Given the description of an element on the screen output the (x, y) to click on. 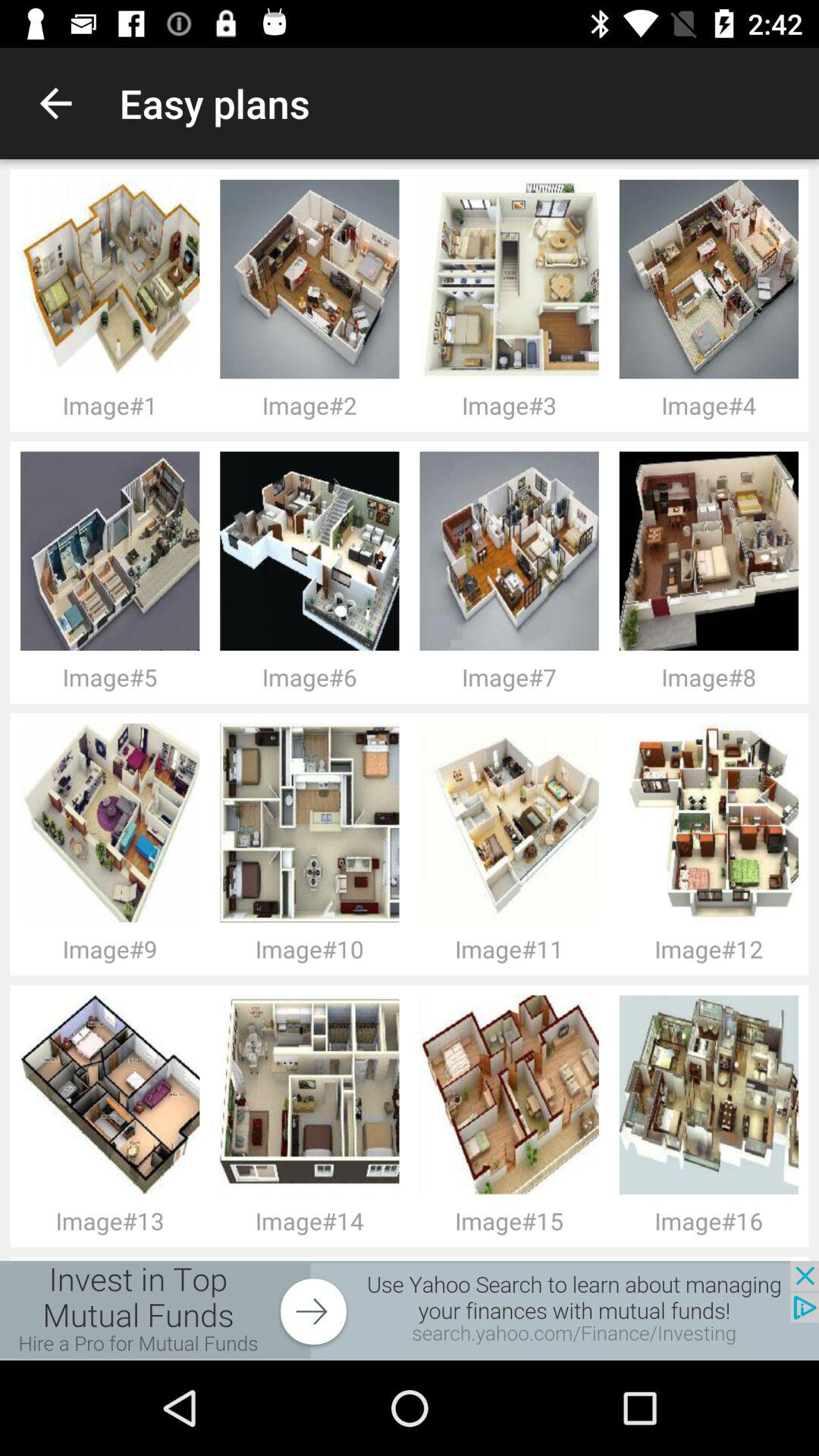
select icon below the image#13 icon (409, 1310)
